Given the description of an element on the screen output the (x, y) to click on. 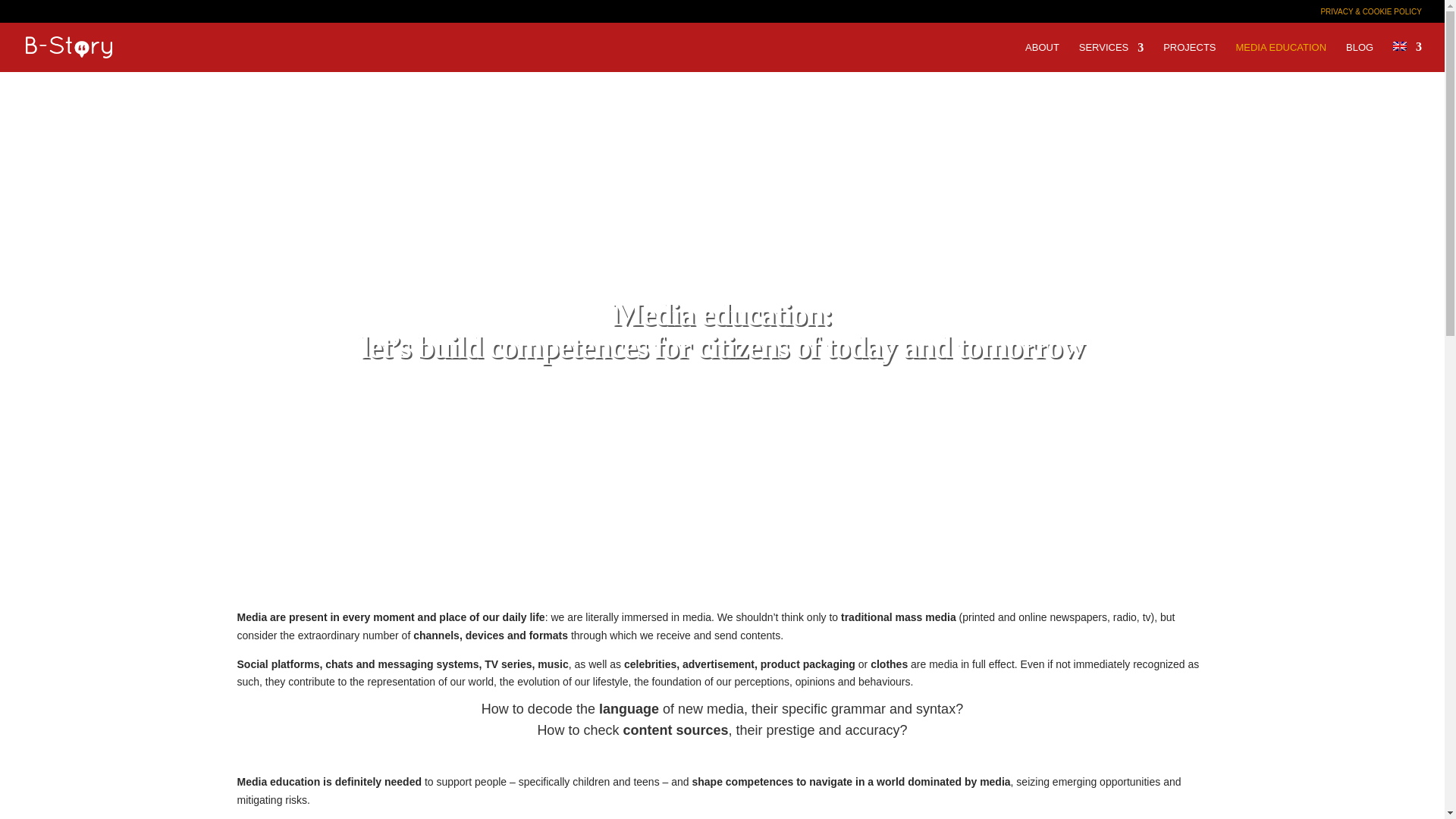
SERVICES (1111, 57)
MEDIA EDUCATION (1280, 57)
BLOG (1359, 57)
ABOUT (1042, 57)
PROJECTS (1189, 57)
